Given the description of an element on the screen output the (x, y) to click on. 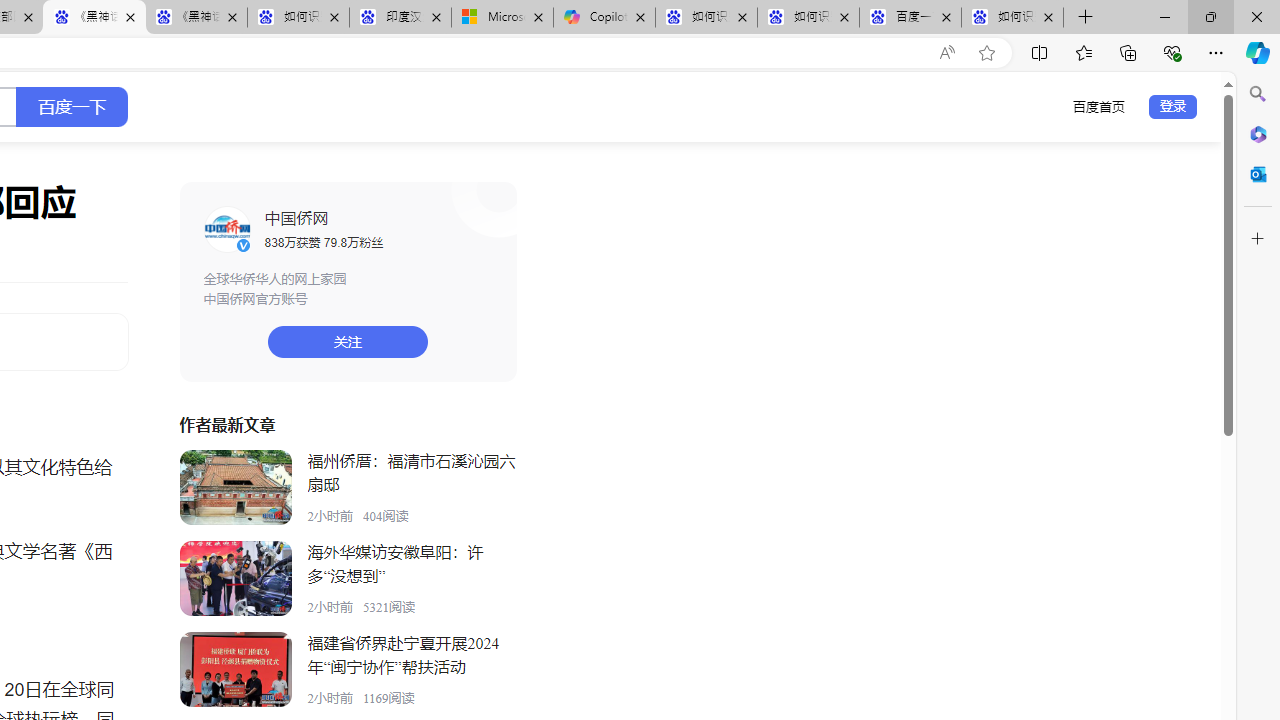
Class: _3aYo6 (235, 669)
